Given the description of an element on the screen output the (x, y) to click on. 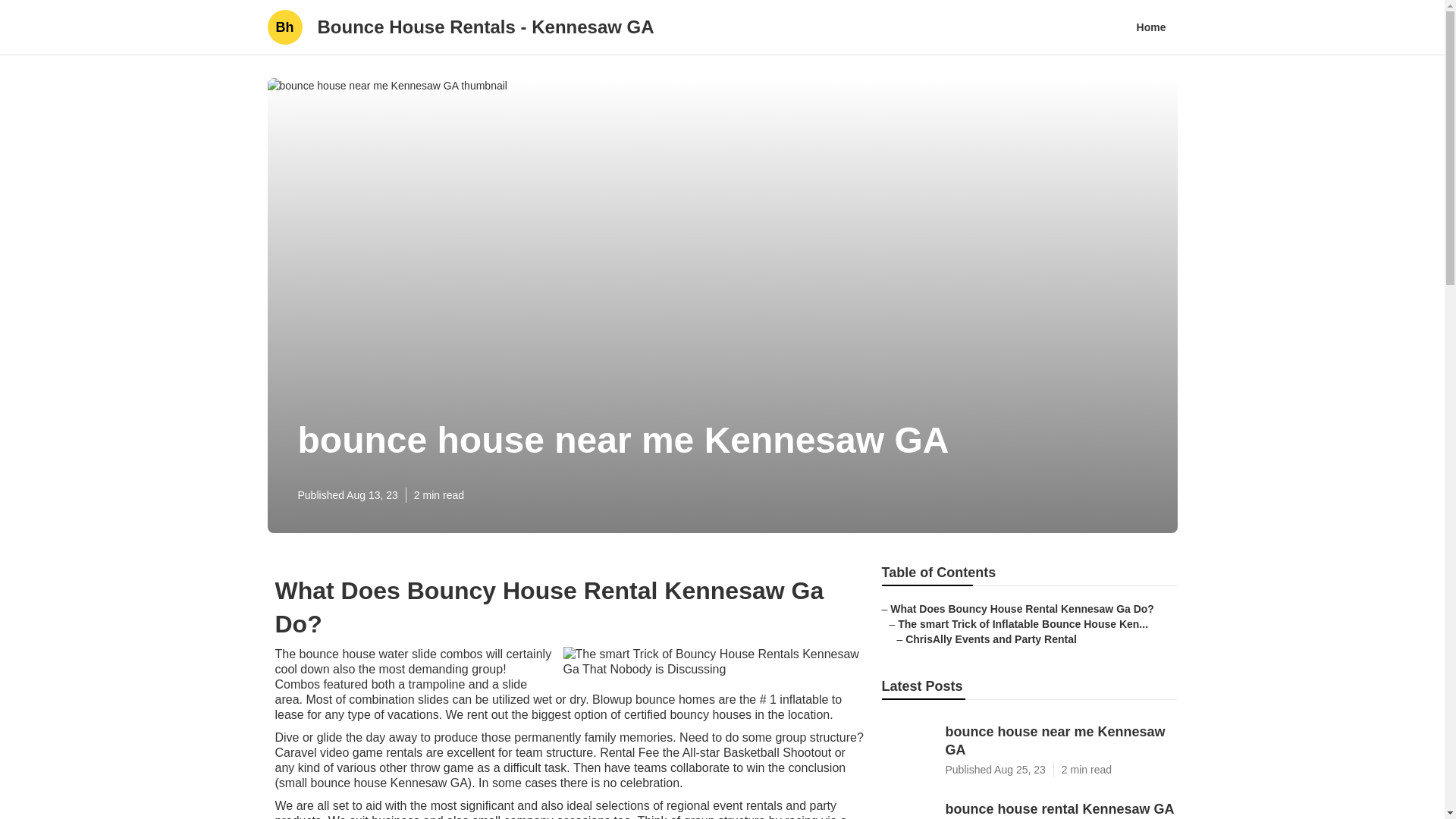
ChrisAlly Events and Party Rental (991, 639)
The smart Trick of Inflatable Bounce House Ken... (1023, 623)
Home (1151, 27)
What Does Bouncy House Rental Kennesaw Ga Do? (1021, 608)
